Given the description of an element on the screen output the (x, y) to click on. 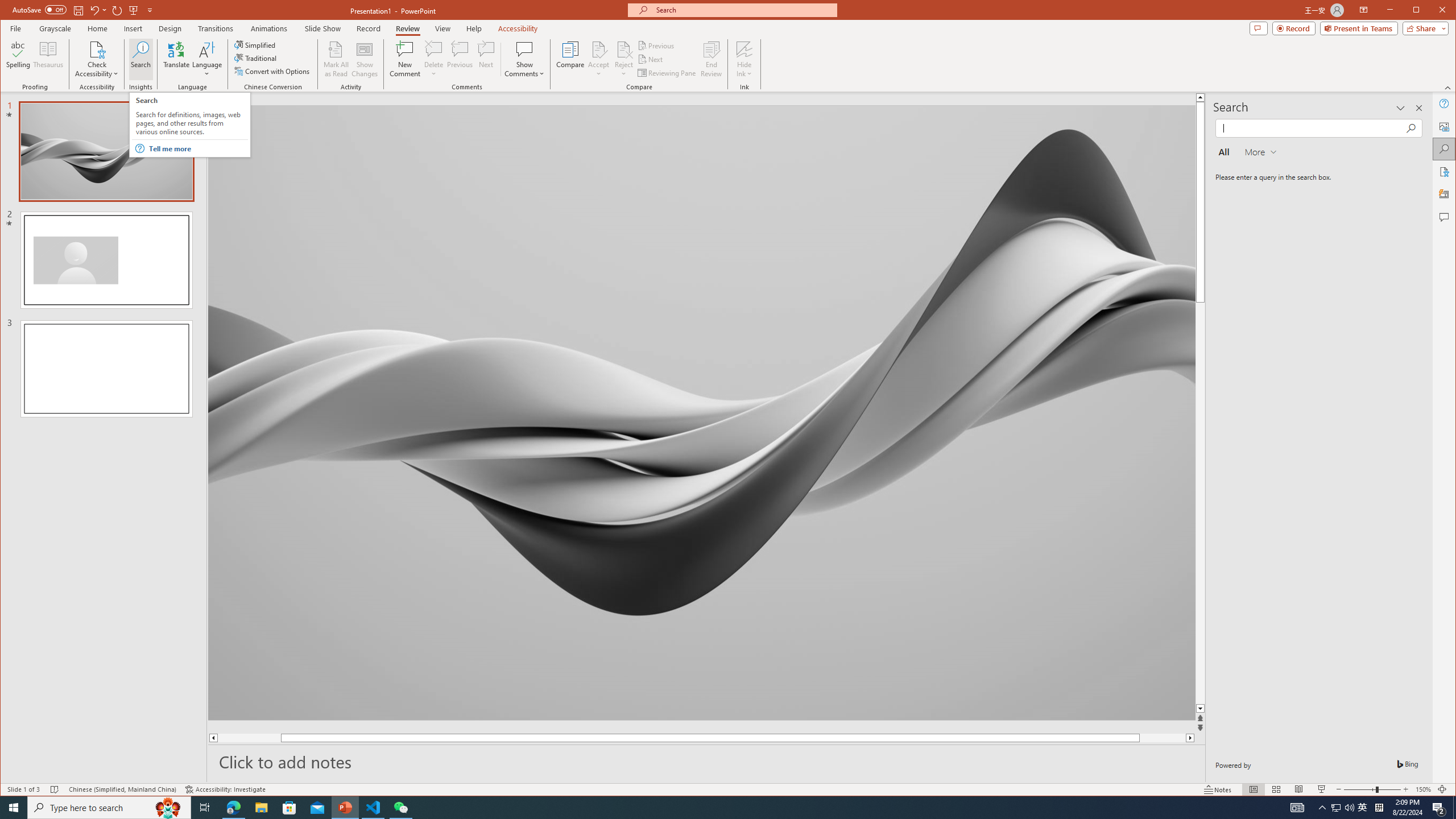
Visual Studio Code - 1 running window (373, 807)
Check Accessibility (96, 48)
Accept Change (598, 48)
Page up (249, 737)
Hide Ink (744, 48)
New Comment (405, 59)
Alt Text (1444, 125)
Notification Chevron (1322, 807)
Thesaurus... (48, 59)
Slide Notes (706, 761)
Reject (623, 59)
